Given the description of an element on the screen output the (x, y) to click on. 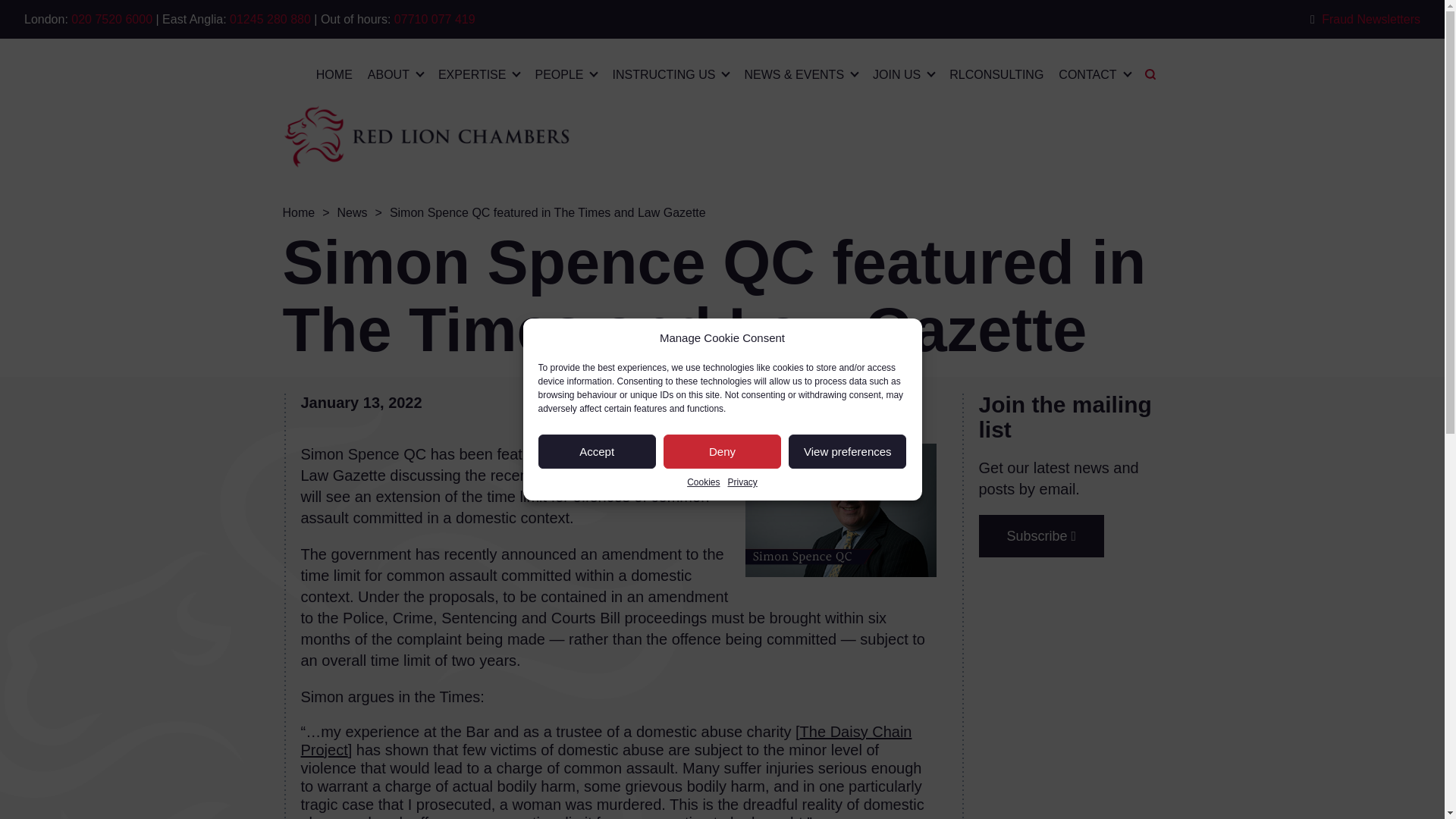
Cookies (703, 481)
View preferences (847, 451)
Privacy (742, 481)
Deny (721, 451)
Accept (597, 451)
